Given the description of an element on the screen output the (x, y) to click on. 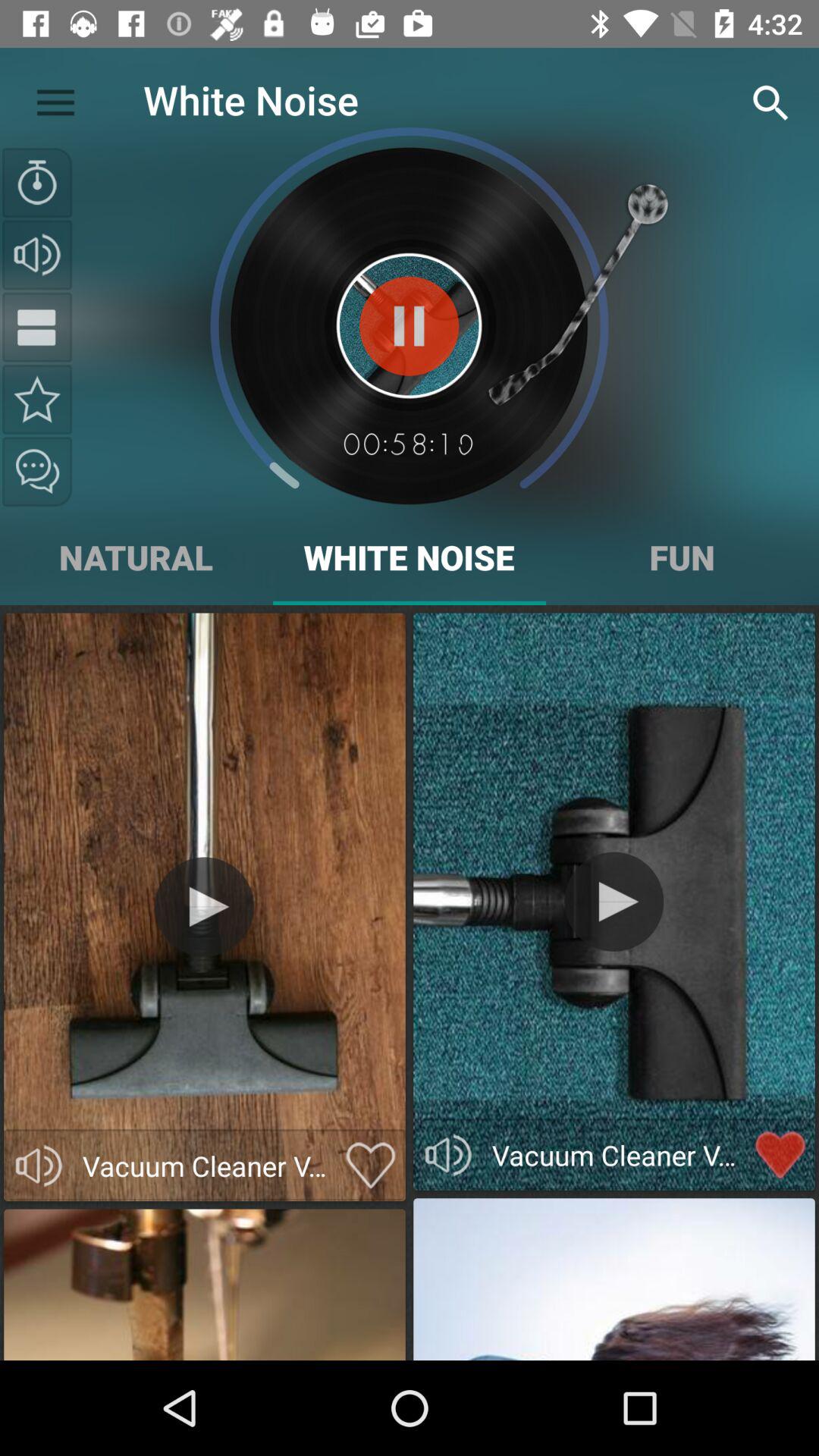
go to priority mo (37, 399)
